Given the description of an element on the screen output the (x, y) to click on. 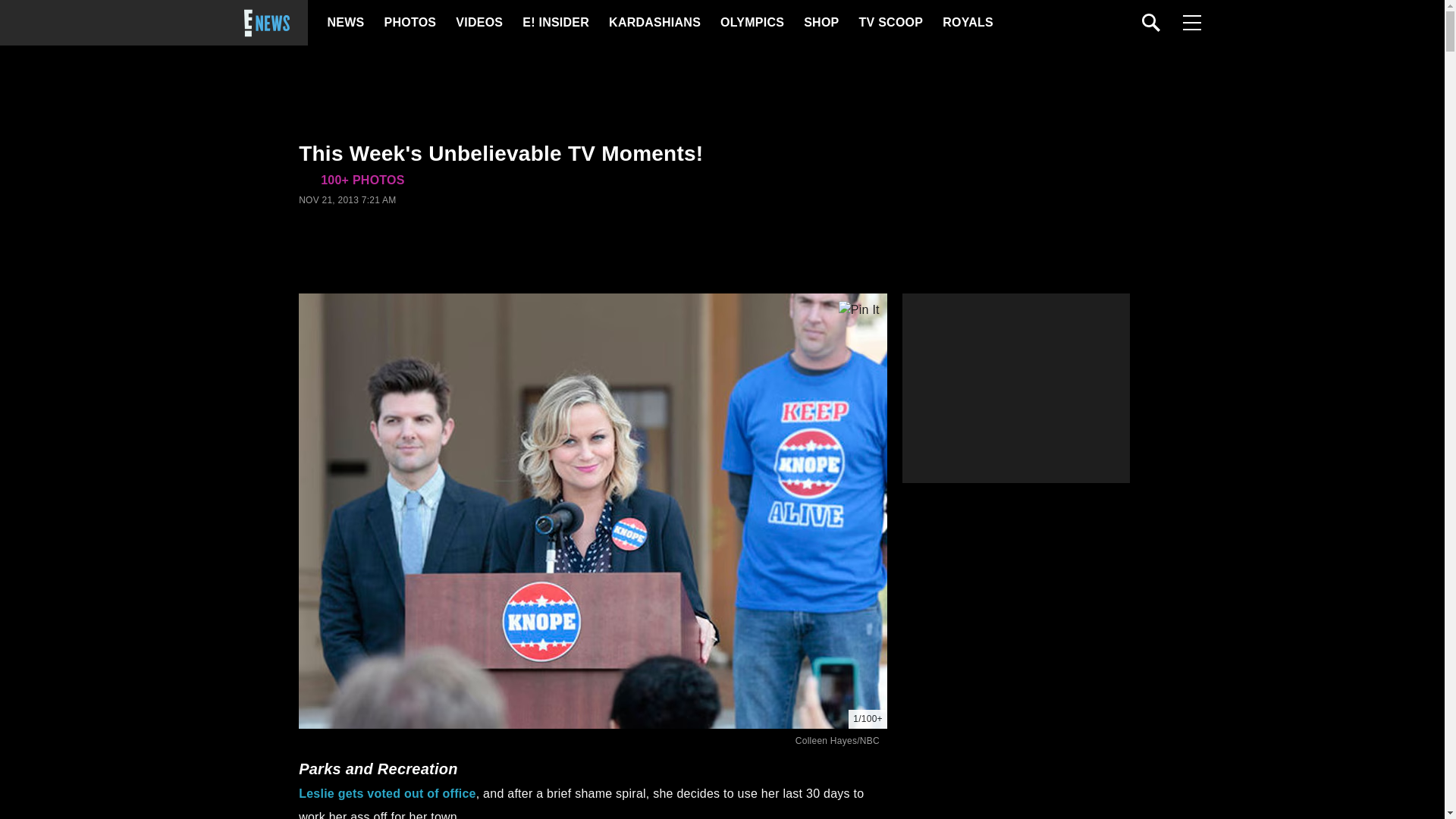
SHOP (820, 22)
Leslie gets voted out of office (387, 793)
NEWS (345, 22)
E! INSIDER (555, 22)
ROYALS (966, 22)
OLYMPICS (751, 22)
PHOTOS (408, 22)
TV SCOOP (890, 22)
KARDASHIANS (653, 22)
VIDEOS (478, 22)
